Given the description of an element on the screen output the (x, y) to click on. 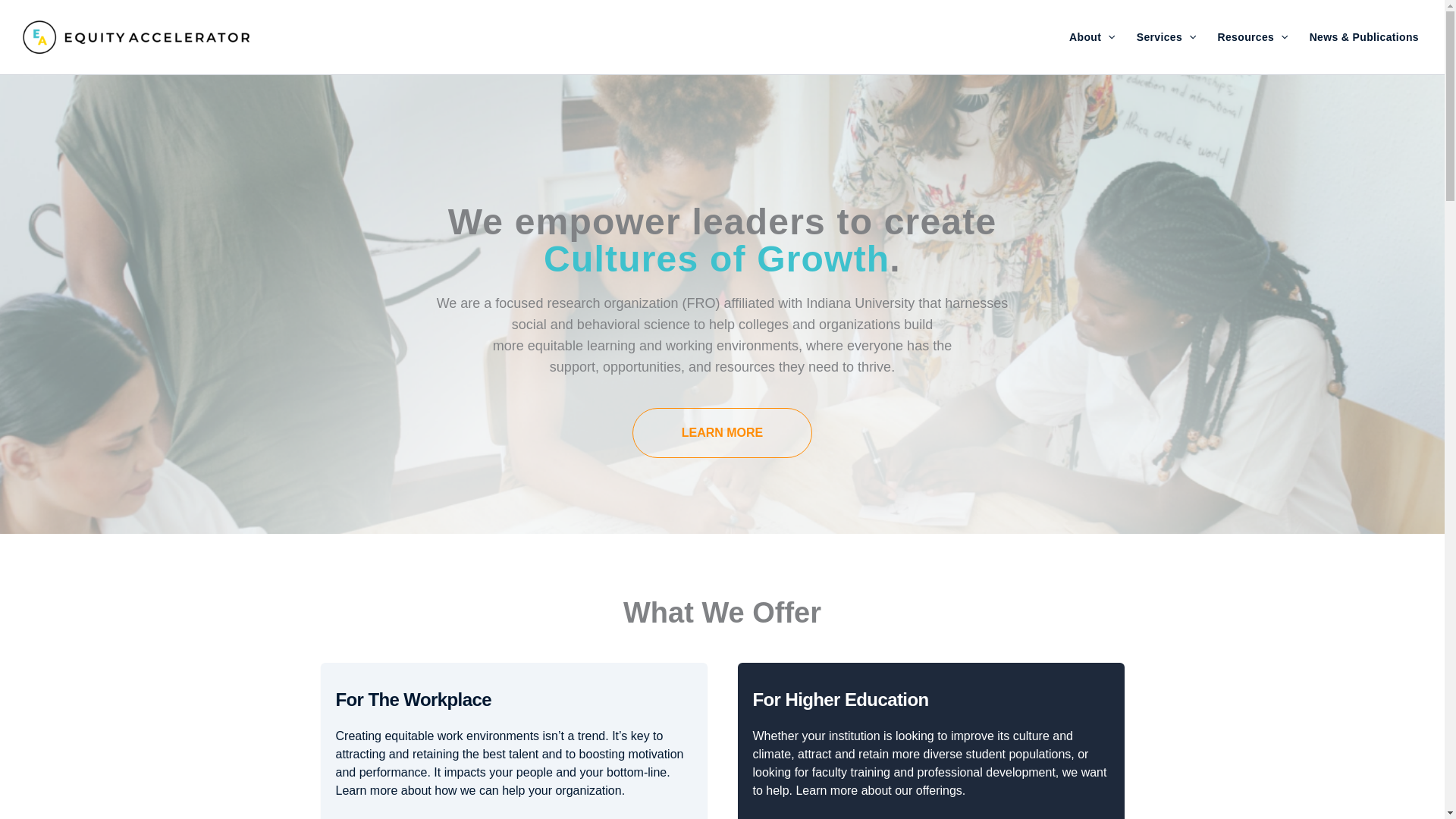
About (1091, 37)
Services (1166, 37)
Resources (1252, 37)
